Given the description of an element on the screen output the (x, y) to click on. 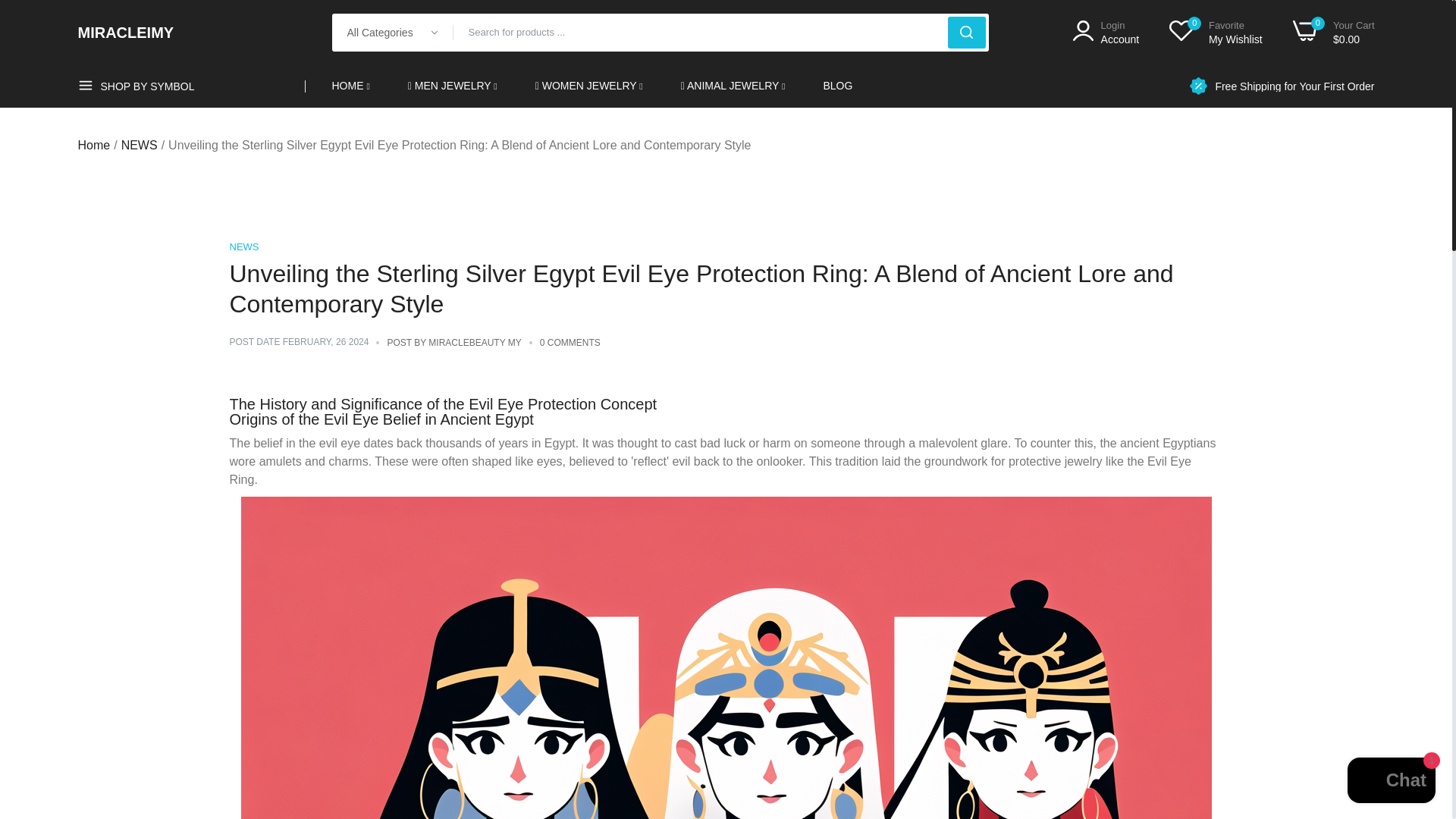
Taotie (759, 212)
Earring (614, 190)
HOME (350, 86)
MEN JEWELRY (452, 86)
Login (1106, 31)
Your Cart (1333, 31)
Necklace (1106, 31)
Earrings (614, 212)
Bracelets (396, 422)
Owl (1055, 422)
Necklaces (759, 190)
ANIMAL JEWELRY (836, 422)
MIRACLEIMY (733, 86)
